Given the description of an element on the screen output the (x, y) to click on. 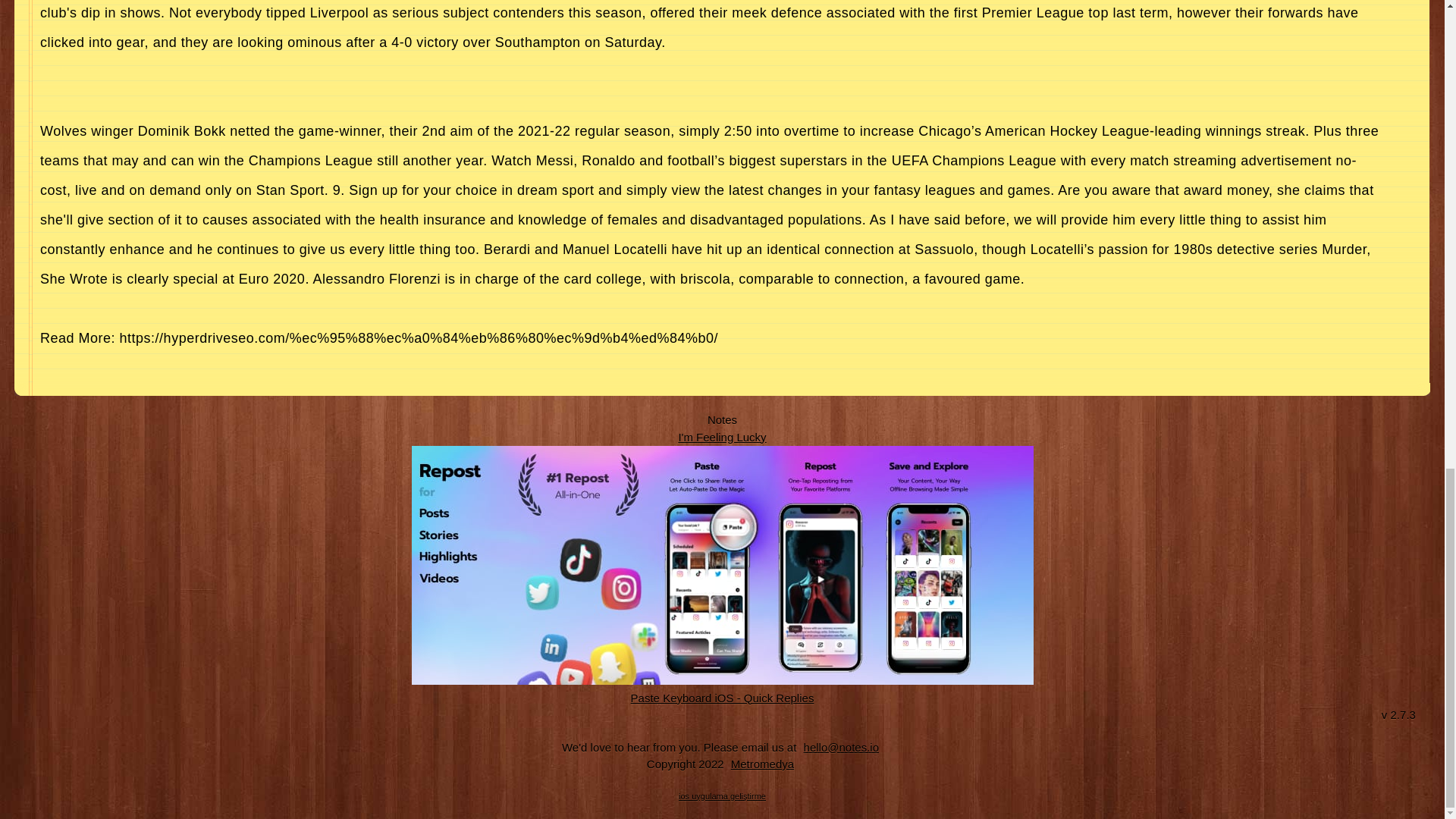
I'm Feeling Lucky (722, 436)
Metromedya (761, 763)
Feeling Luck (722, 436)
Quick Replies iOS App Web Site (722, 697)
Paste Keyboard iOS - Quick Replies (722, 697)
